Given the description of an element on the screen output the (x, y) to click on. 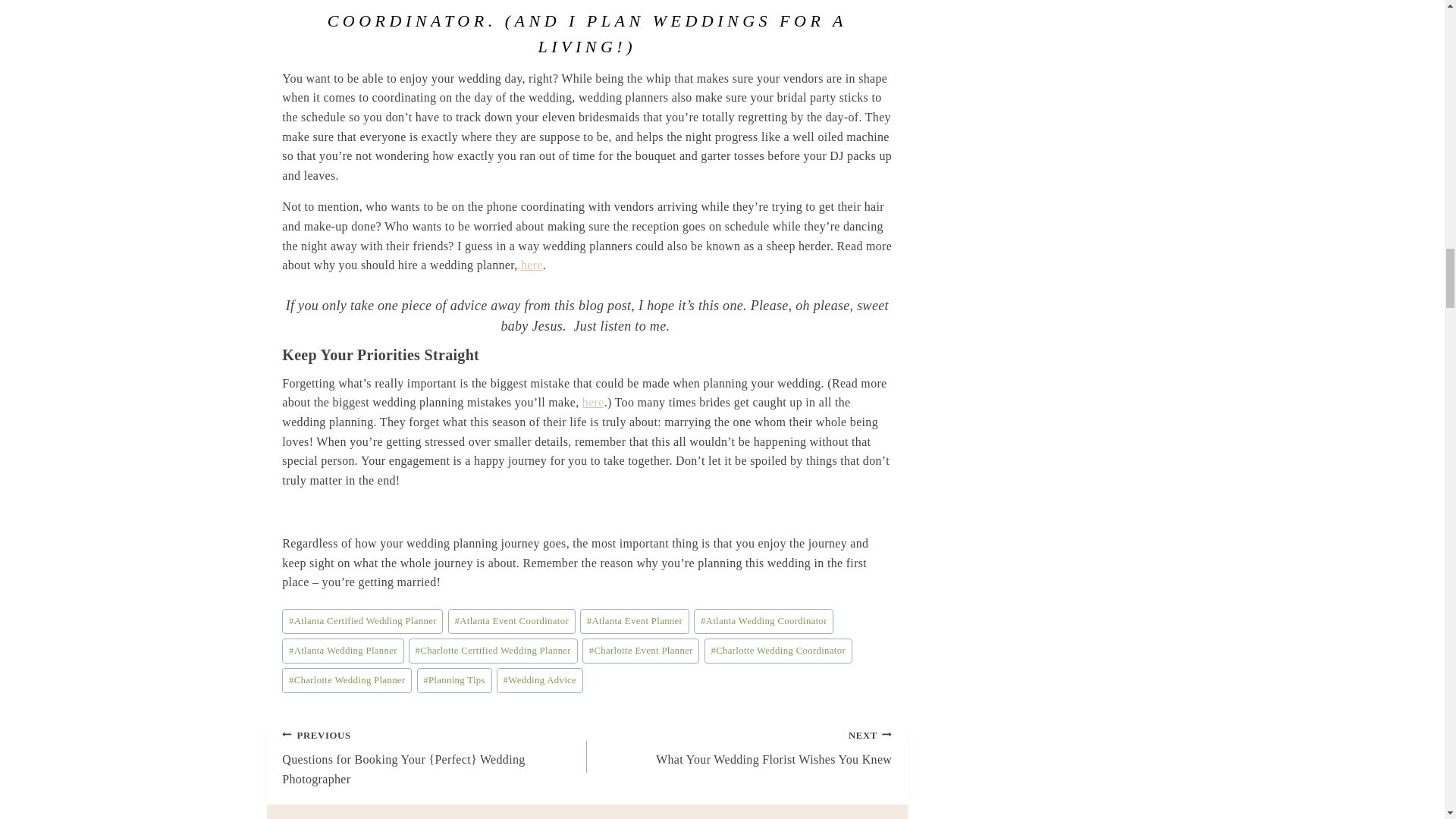
Charlotte Wedding Coordinator (777, 650)
Charlotte Wedding Planner (347, 680)
Atlanta Wedding Coordinator (763, 621)
here (593, 401)
Atlanta Event Coordinator (511, 621)
Atlanta Wedding Planner (342, 650)
Planning Tips (454, 680)
Charlotte Certified Wedding Planner (493, 650)
Wedding Advice (539, 680)
Atlanta Event Planner (633, 621)
